Given the description of an element on the screen output the (x, y) to click on. 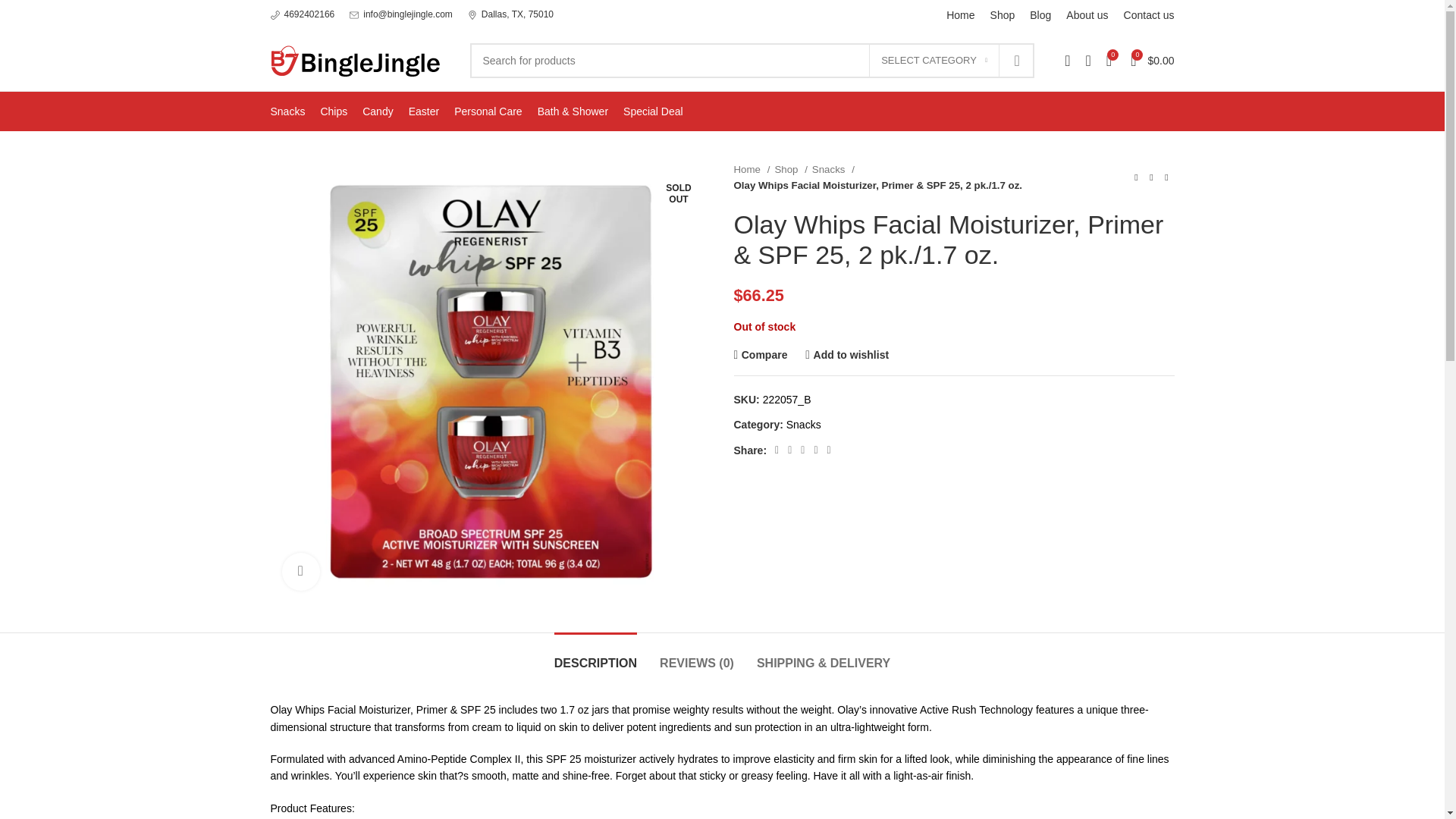
grocery-envelope (353, 14)
groceryt-phone (274, 14)
About us (1086, 15)
Search for products (752, 60)
grocery-pointer (472, 14)
Home (960, 15)
Shopping cart (1151, 60)
Contact us (1149, 15)
SELECT CATEGORY (933, 60)
SELECT CATEGORY (933, 60)
